Given the description of an element on the screen output the (x, y) to click on. 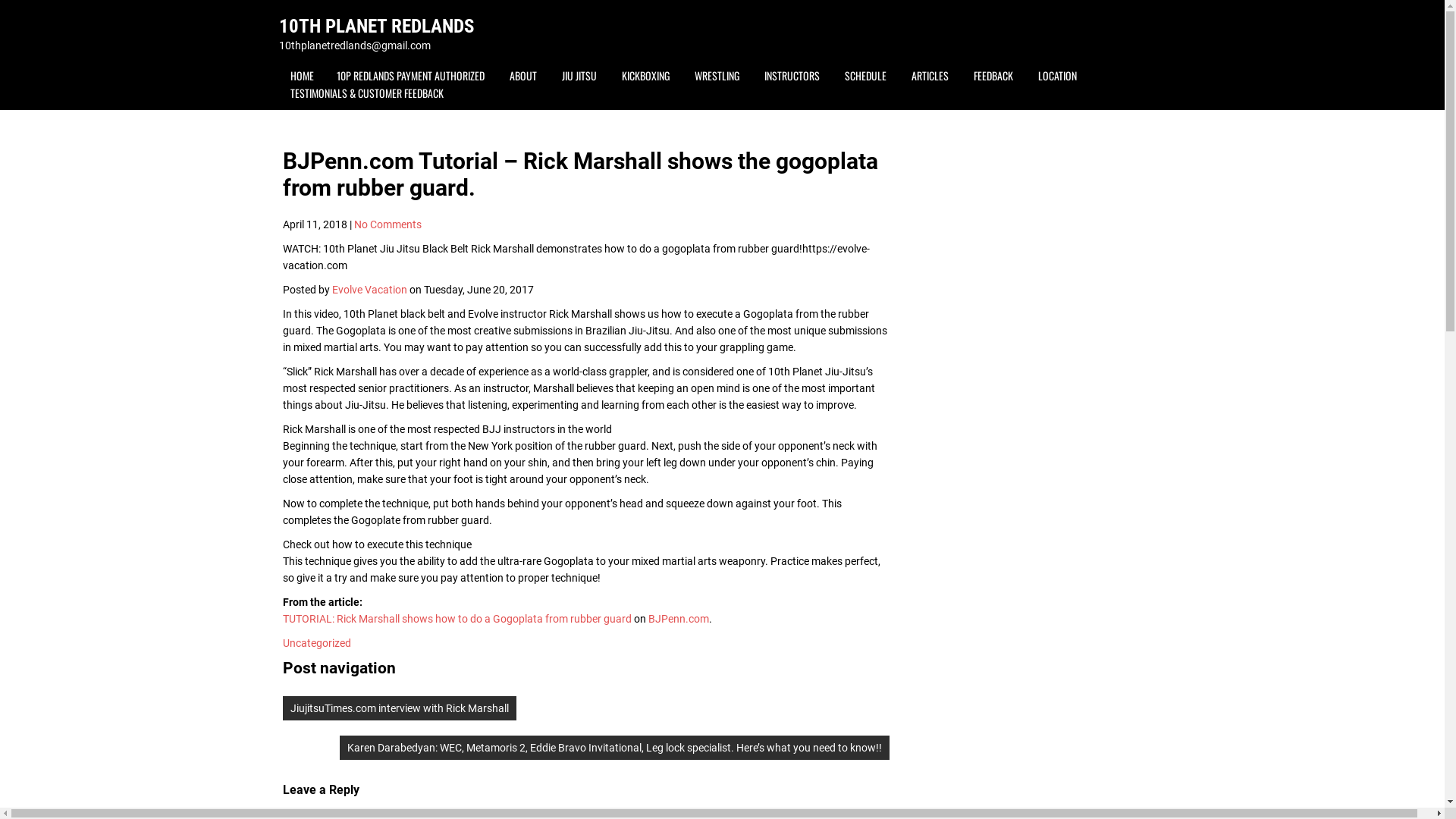
No Comments Element type: text (386, 224)
Uncategorized Element type: text (316, 643)
WRESTLING Element type: text (715, 75)
ABOUT Element type: text (522, 75)
HOME Element type: text (302, 75)
JiujitsuTimes.com interview with Rick Marshall Element type: text (398, 708)
INSTRUCTORS Element type: text (791, 75)
KICKBOXING Element type: text (644, 75)
BJPenn.com Element type: text (677, 618)
SCHEDULE Element type: text (864, 75)
LOCATION Element type: text (1057, 75)
Evolve Vacation Element type: text (369, 289)
10P REDLANDS PAYMENT AUTHORIZED Element type: text (409, 75)
FEEDBACK Element type: text (992, 75)
ARTICLES Element type: text (929, 75)
JIU JITSU Element type: text (579, 75)
10TH PLANET REDLANDS Element type: text (376, 26)
TESTIMONIALS & CUSTOMER FEEDBACK Element type: text (367, 92)
